Given the description of an element on the screen output the (x, y) to click on. 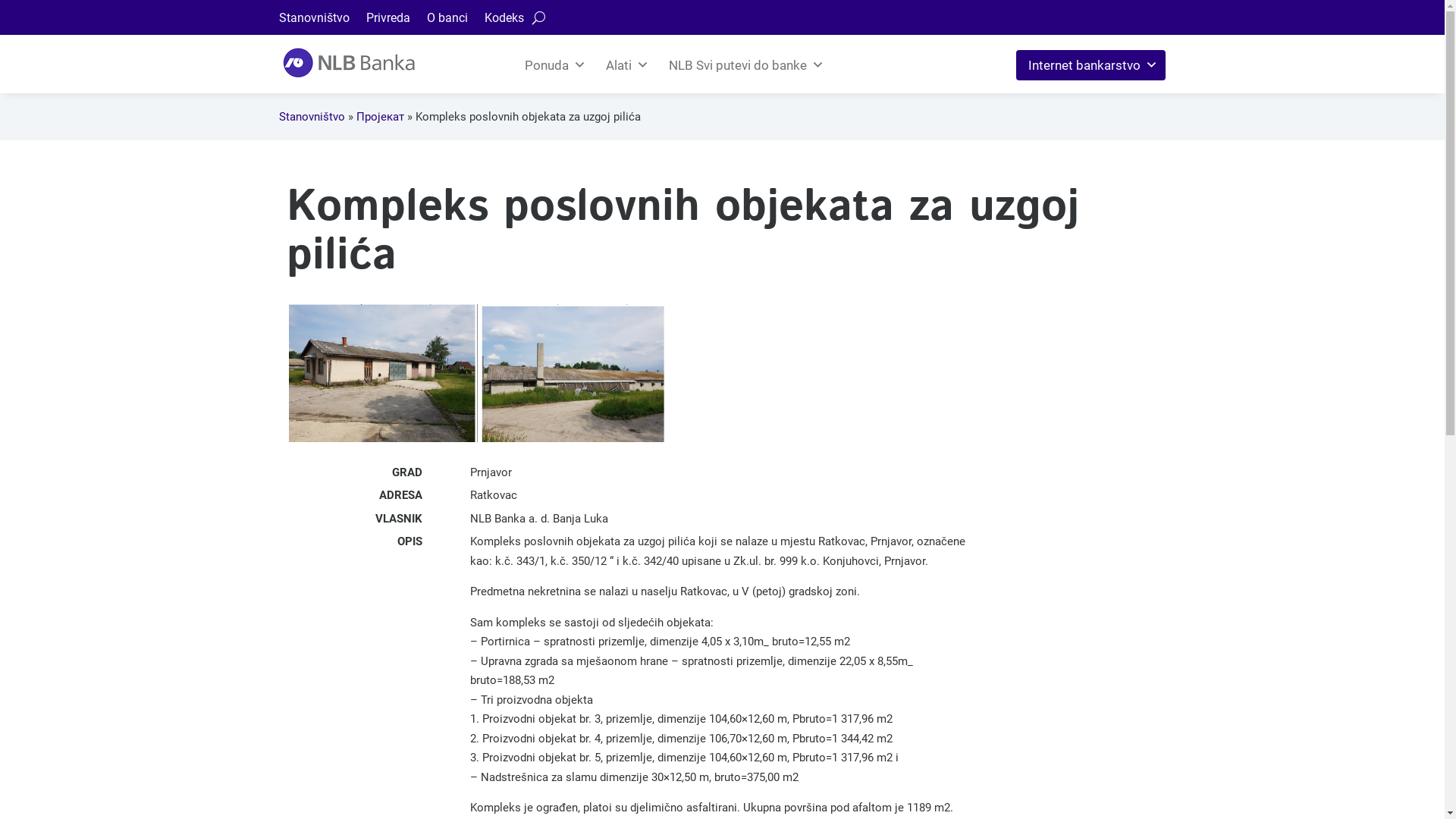
NLB Svi putevi do banke Element type: text (743, 65)
Alati Element type: text (624, 65)
Ponuda Element type: text (552, 65)
O banci Element type: text (446, 20)
vetprodukt1 Element type: hover (475, 373)
Internet bankarstvo Element type: text (1090, 65)
Privreda Element type: text (387, 20)
Kodeks Element type: text (503, 20)
